Given the description of an element on the screen output the (x, y) to click on. 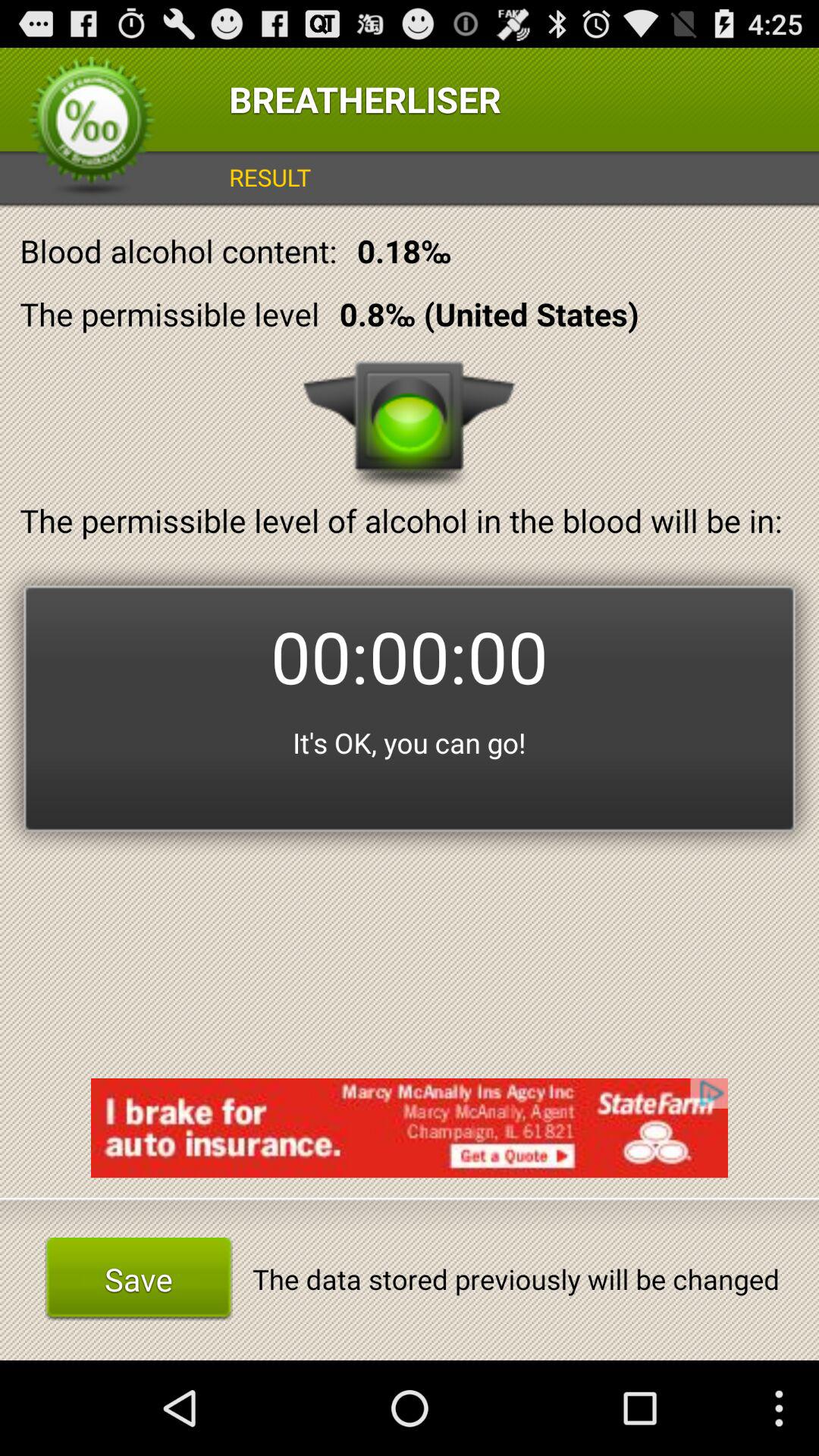
click item to the left of the data stored (138, 1278)
